Given the description of an element on the screen output the (x, y) to click on. 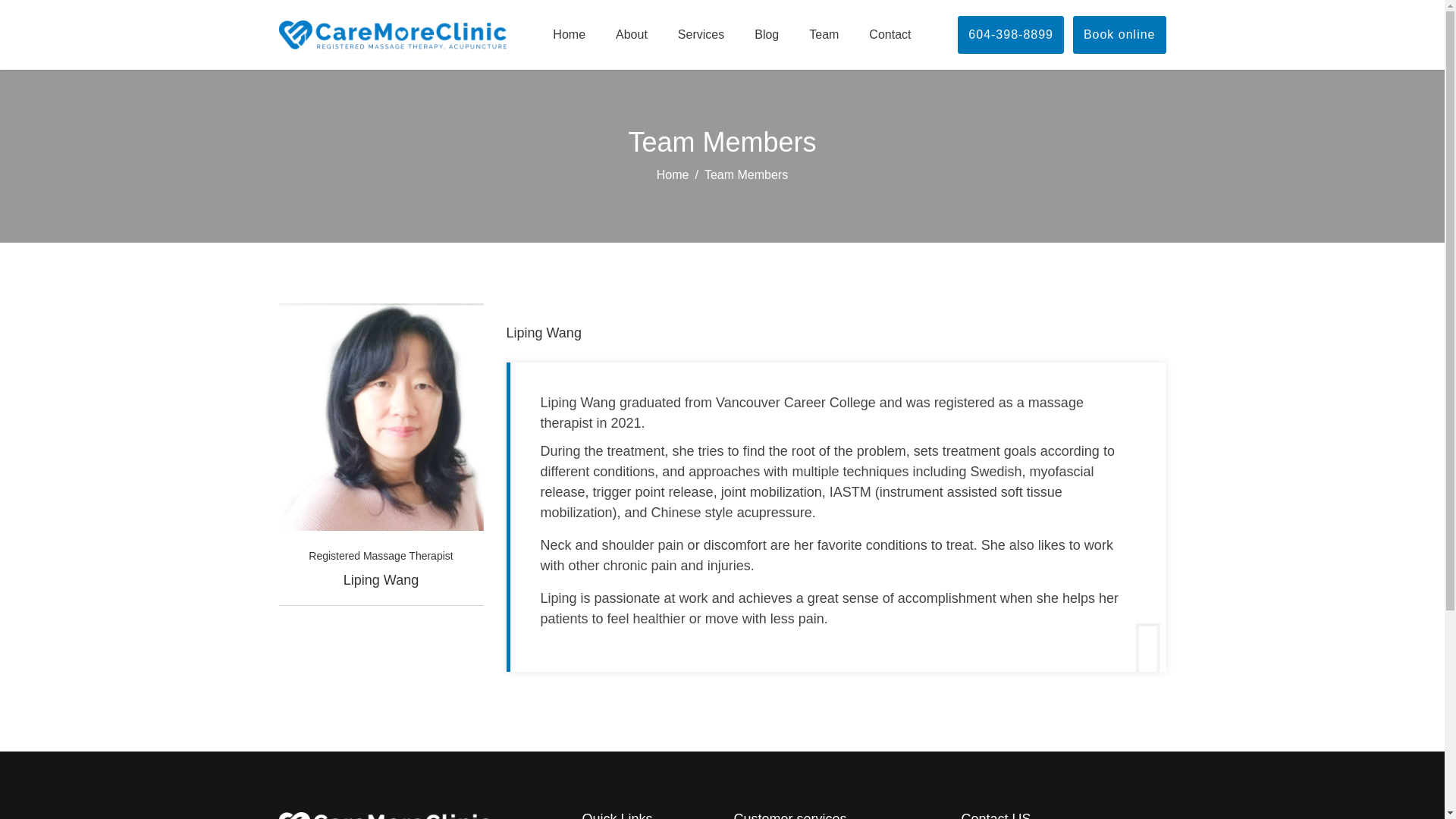
Services (700, 34)
604-398-8899 (1011, 34)
Contact (889, 34)
Home (672, 174)
About (630, 34)
Book online (1119, 34)
Home (568, 34)
